Given the description of an element on the screen output the (x, y) to click on. 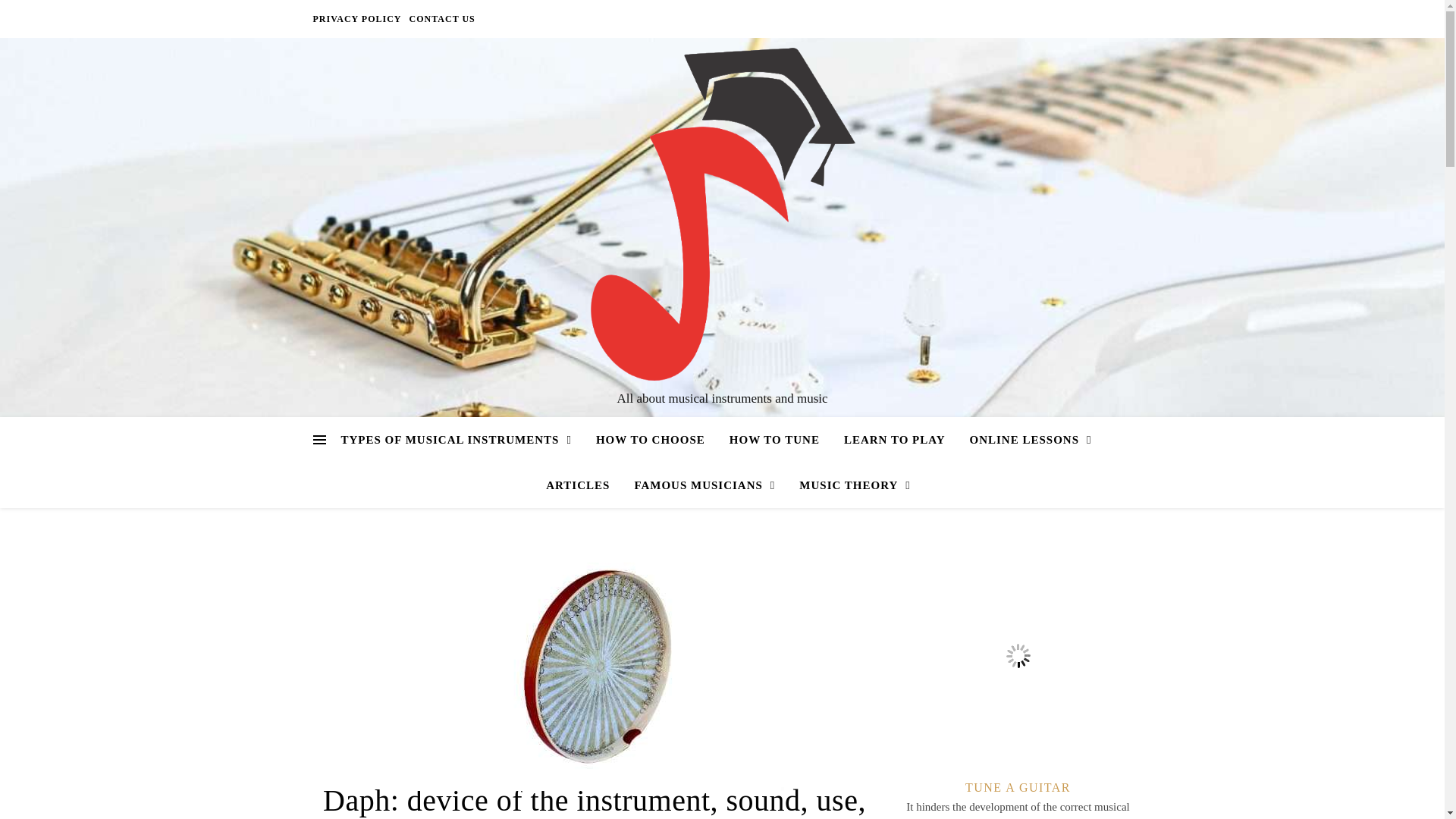
PRIVACY POLICY (358, 18)
LEARN TO PLAY (894, 439)
HOW TO CHOOSE (650, 439)
FAMOUS MUSICIANS (704, 484)
HOW TO TUNE (774, 439)
TYPES OF MUSICAL INSTRUMENTS (461, 439)
MUSIC THEORY (848, 484)
ONLINE LESSONS (1030, 439)
CONTACT US (441, 18)
ARTICLES (577, 484)
Digital School (721, 212)
